Given the description of an element on the screen output the (x, y) to click on. 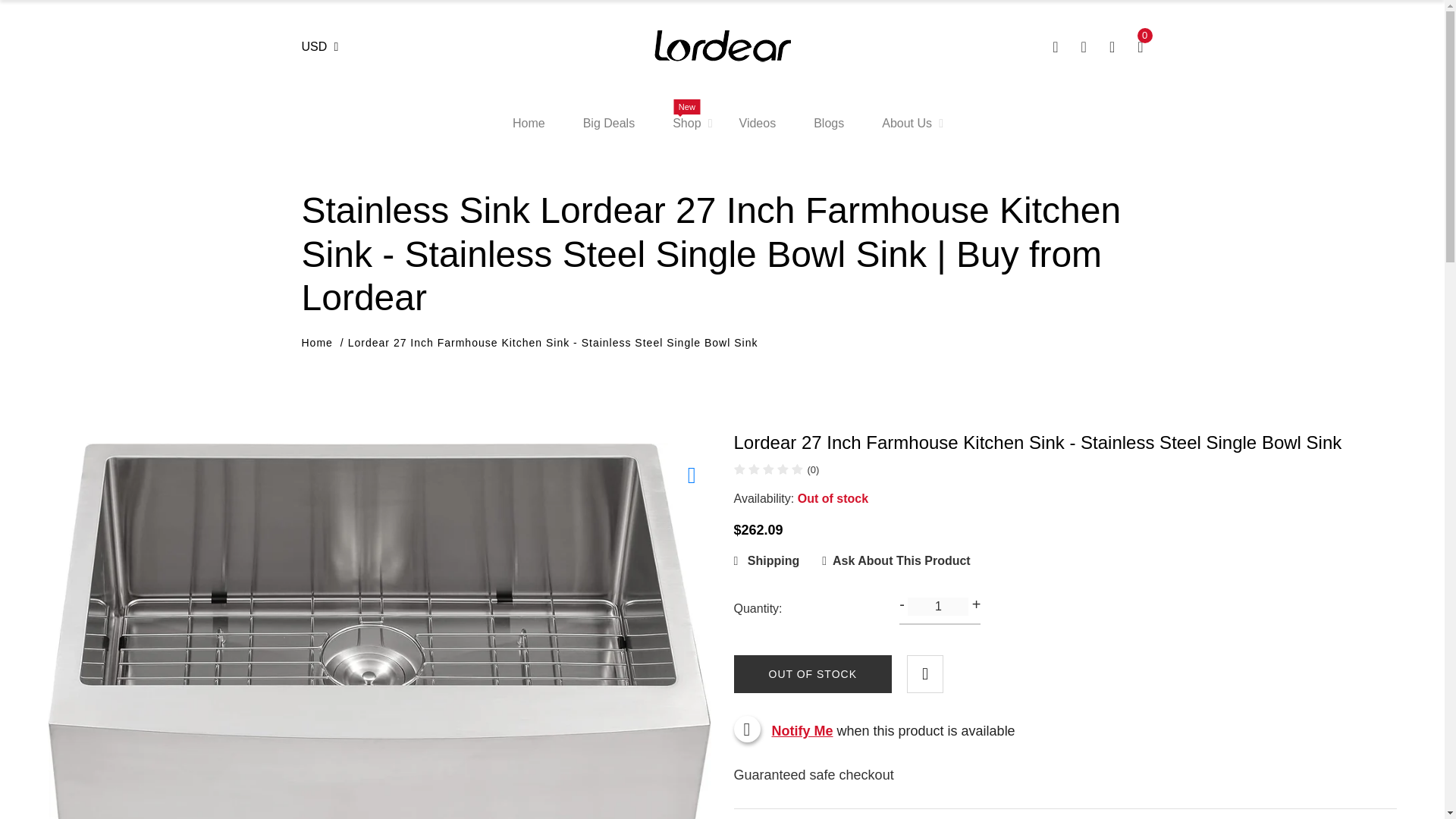
Back to the home page (317, 342)
1 (937, 606)
